Given the description of an element on the screen output the (x, y) to click on. 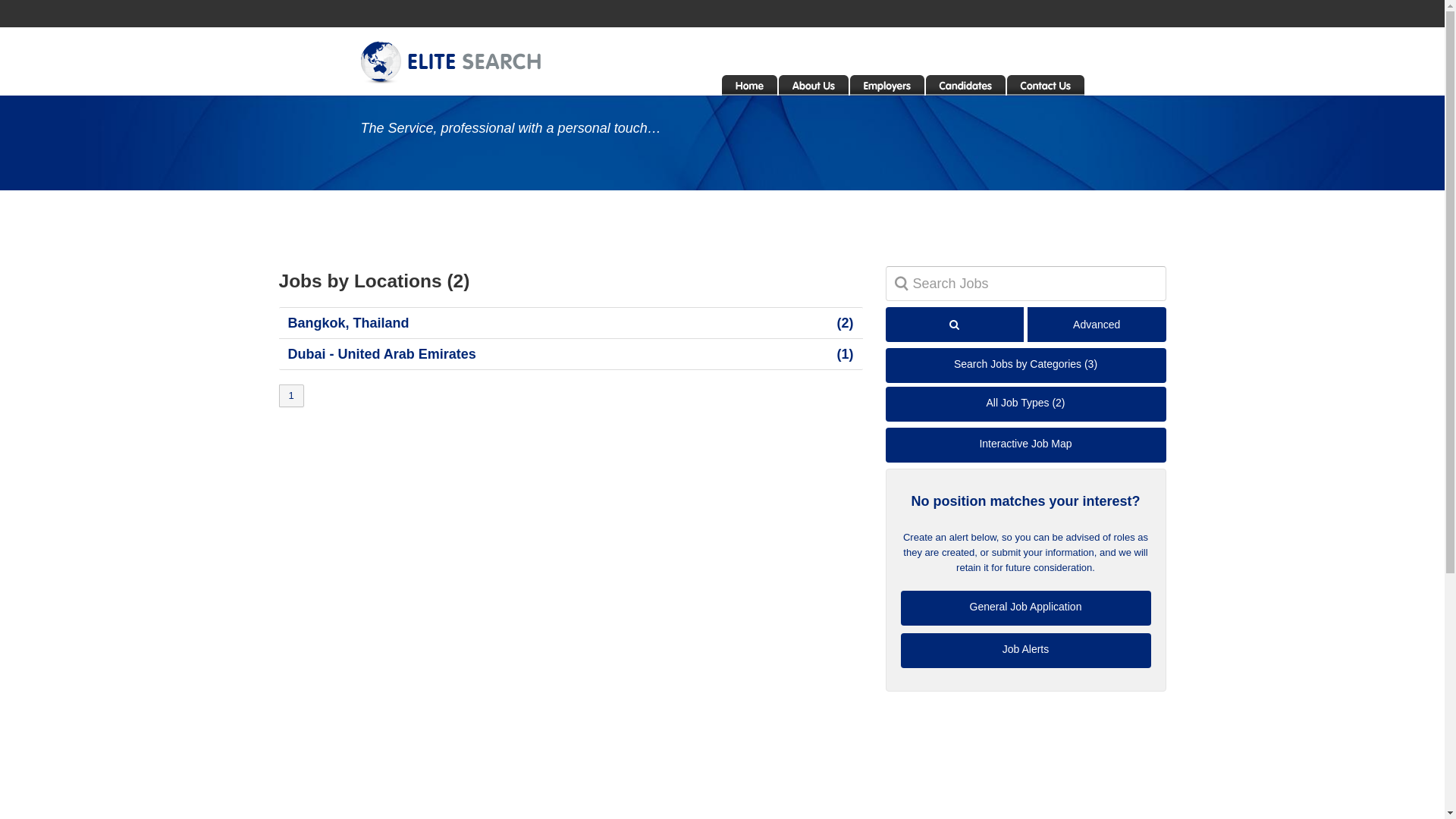
Employers Element type: text (886, 81)
General Job Application Element type: text (1025, 607)
All Job Types (2) Element type: text (1025, 403)
1 Element type: text (291, 395)
Search Jobs by Categories (3) Element type: text (1025, 365)
Home Element type: text (749, 81)
Contact Us Element type: text (1045, 81)
(1)
Dubai - United Arab Emirates Element type: text (570, 354)
About Us Element type: text (812, 81)
Advanced Element type: text (1096, 324)
Interactive Job Map Element type: text (1025, 444)
Candidates Element type: text (964, 81)
Job Alerts Element type: text (1025, 650)
(2)
Bangkok, Thailand Element type: text (570, 322)
